Given the description of an element on the screen output the (x, y) to click on. 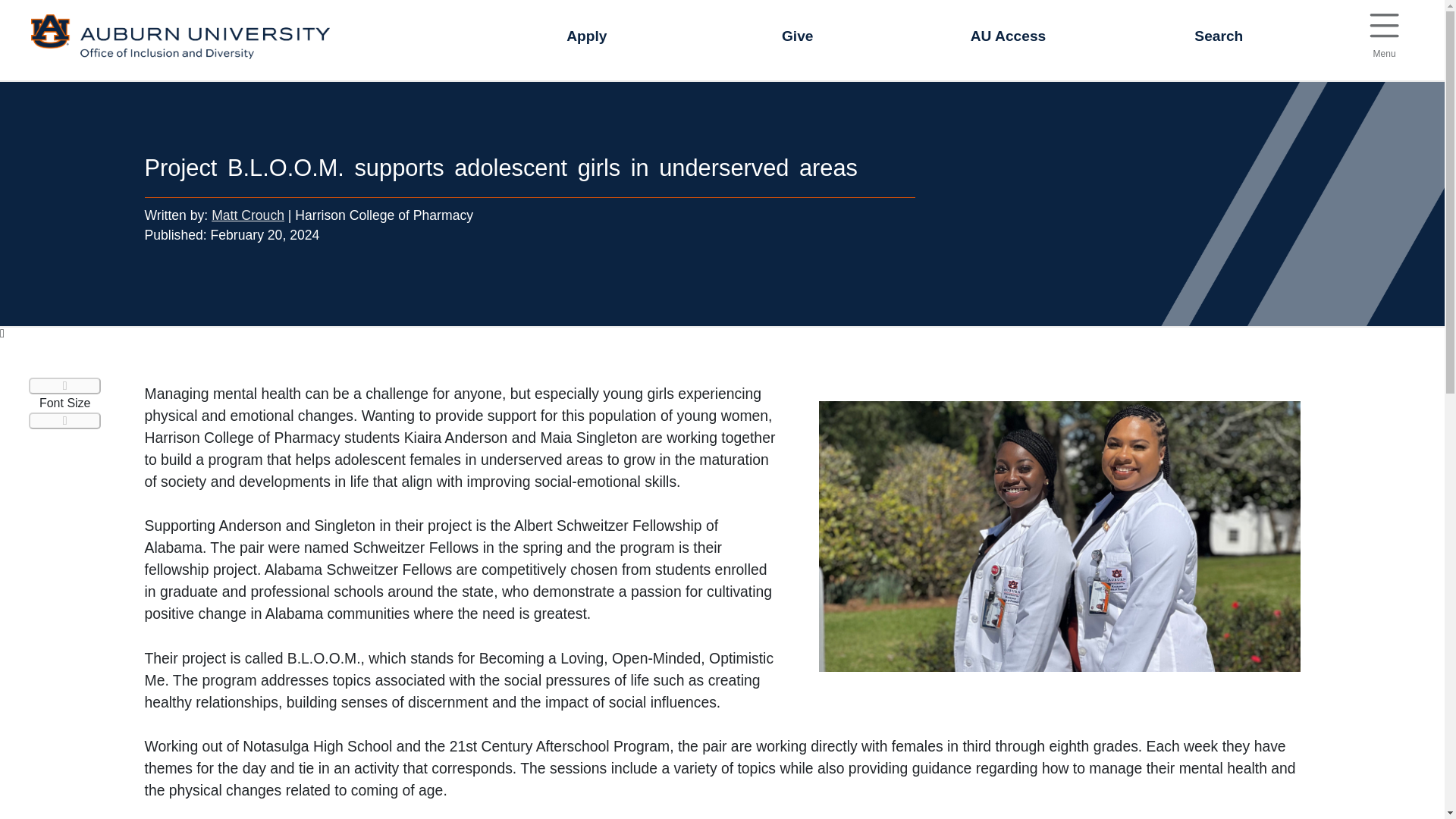
Apply (1383, 32)
Search (587, 36)
Menu button (1218, 36)
Give (1383, 25)
AU Access (797, 36)
